Given the description of an element on the screen output the (x, y) to click on. 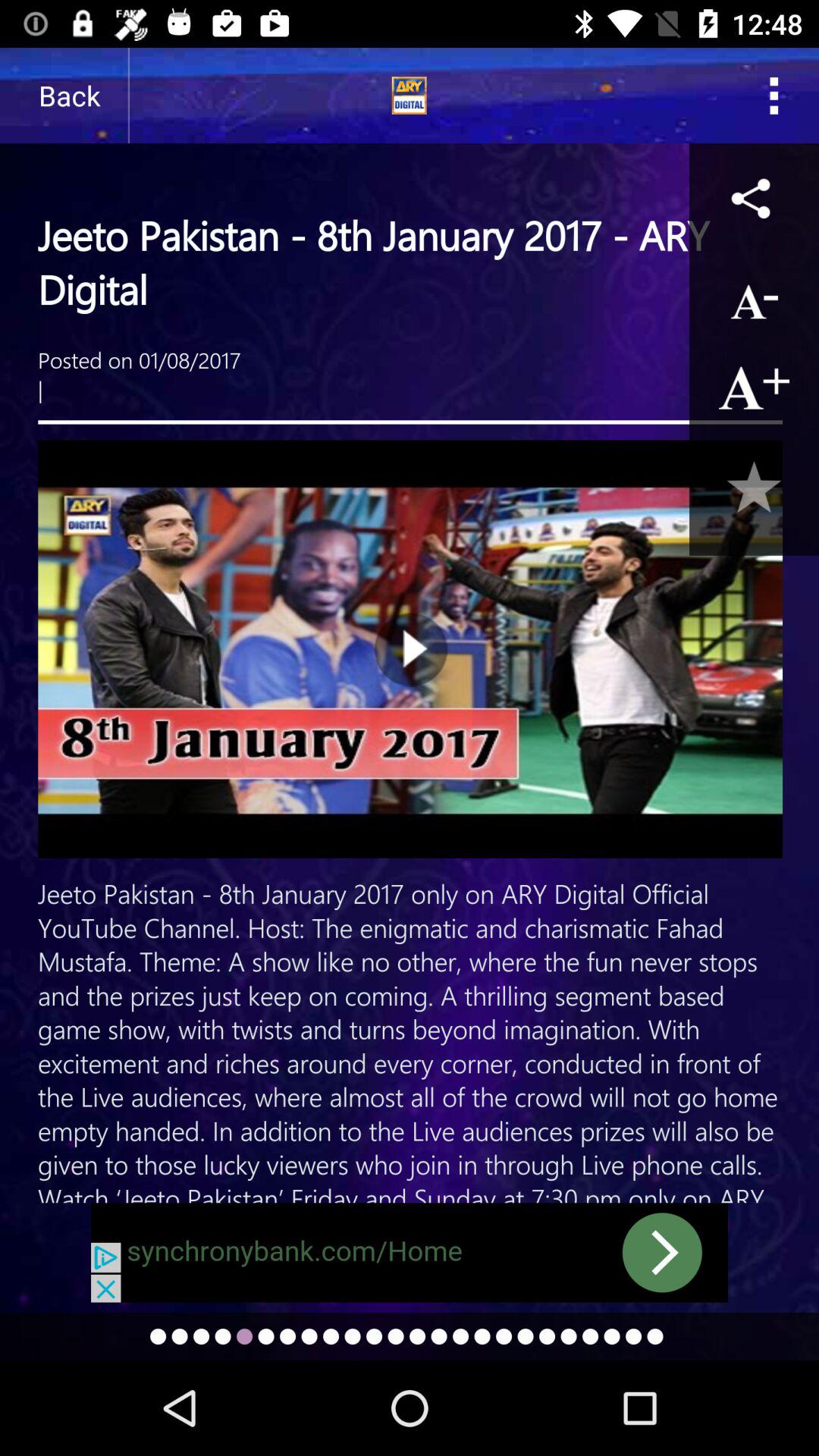
forward (409, 1252)
